Given the description of an element on the screen output the (x, y) to click on. 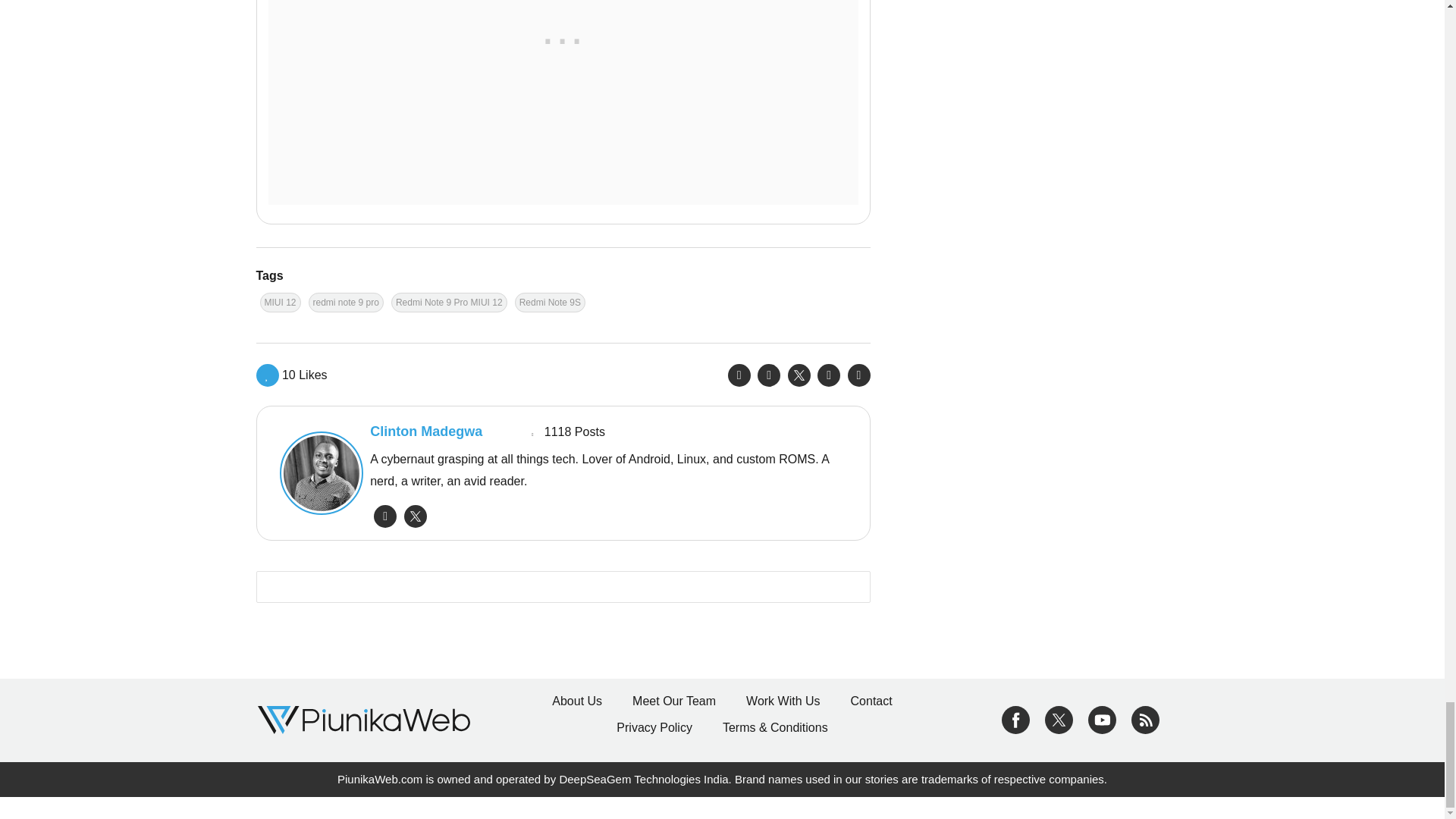
Redmi Note 9S (550, 302)
Clinton Madegwa (317, 473)
Feed (1144, 718)
YouTube (1101, 718)
redmi note 9 pro (346, 302)
Redmi Note 9 Pro MIUI 12 (448, 302)
Love (291, 374)
Facebook (1015, 718)
X (1059, 718)
MIUI 12 (279, 302)
